Given the description of an element on the screen output the (x, y) to click on. 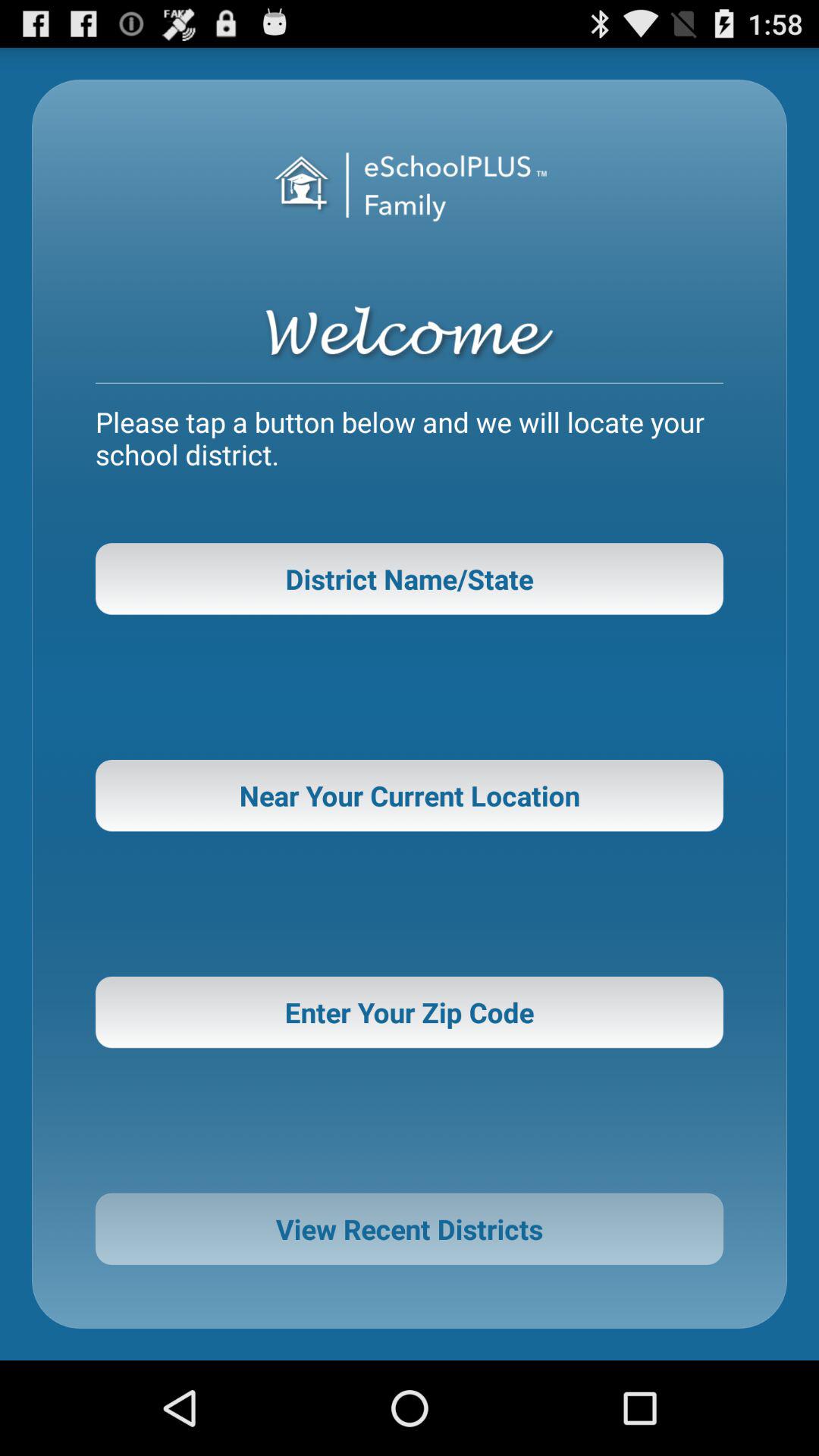
swipe to the district name/state (409, 578)
